Given the description of an element on the screen output the (x, y) to click on. 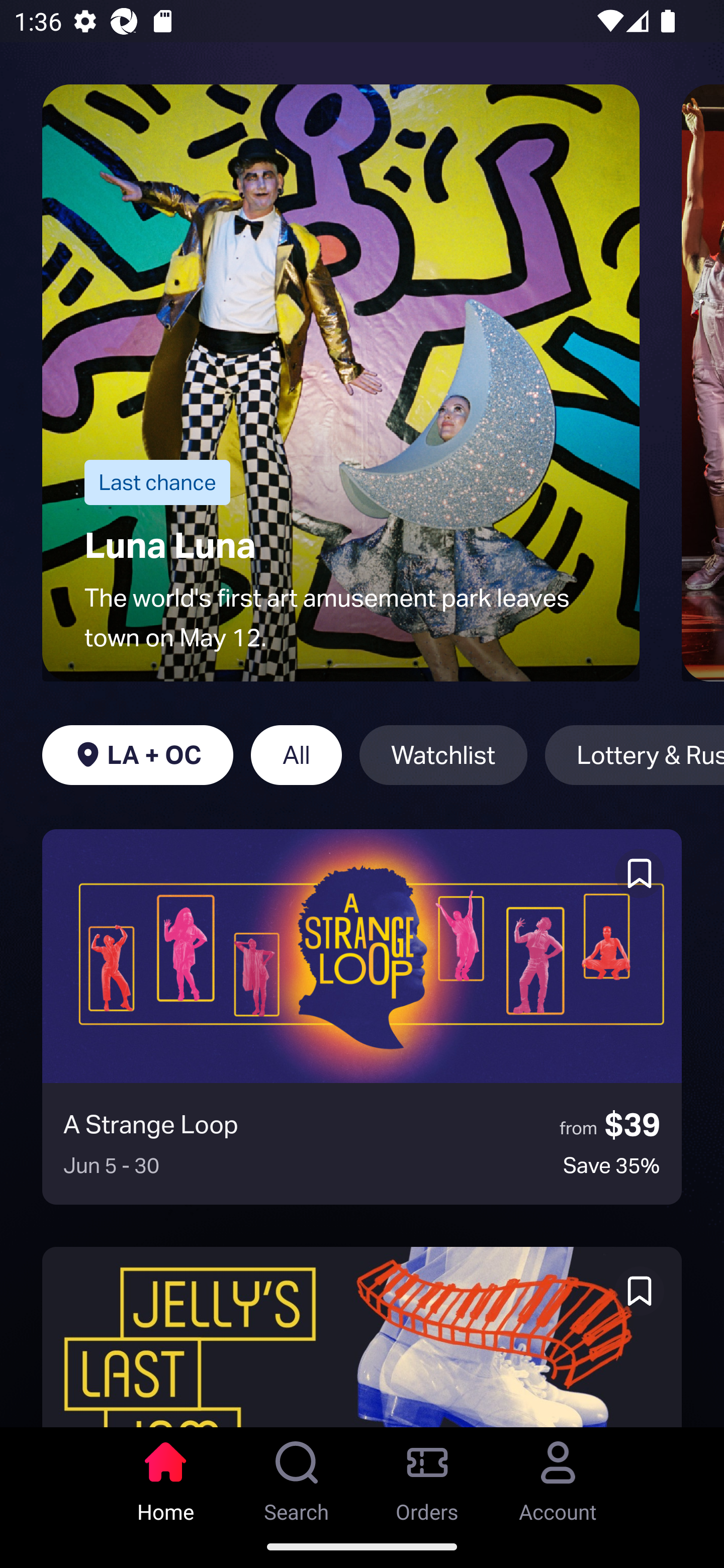
LA + OC (137, 754)
All (296, 754)
Watchlist (443, 754)
Lottery & Rush (634, 754)
A Strange Loop from $39 Jun 5 - 30 Save 35% (361, 1016)
Search (296, 1475)
Orders (427, 1475)
Account (558, 1475)
